Given the description of an element on the screen output the (x, y) to click on. 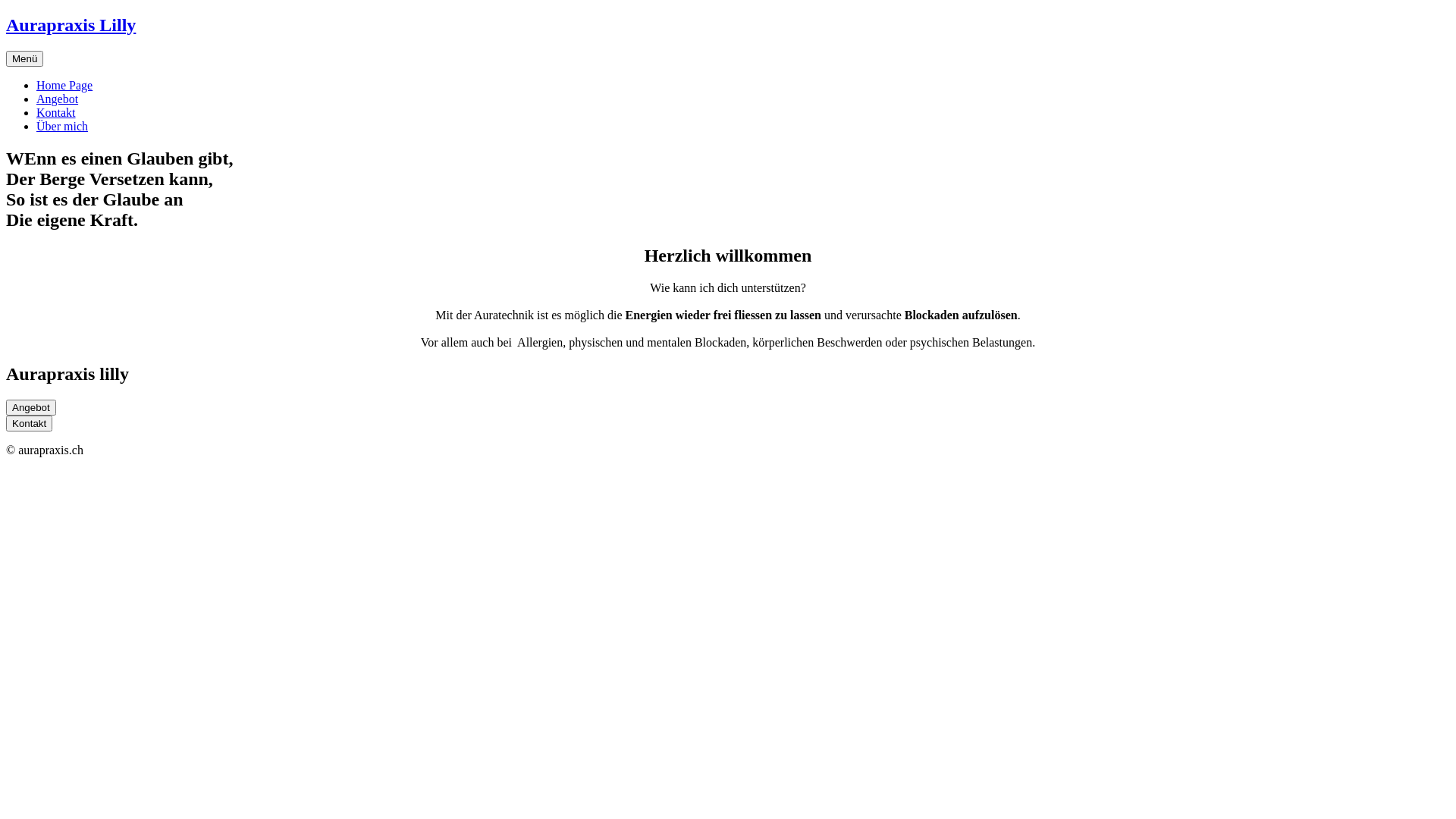
Home Page Element type: text (64, 84)
Kontakt Element type: text (29, 423)
Aurapraxis Lilly Element type: text (70, 24)
Angebot Element type: text (57, 98)
Angebot Element type: text (31, 407)
Kontakt Element type: text (55, 112)
